Given the description of an element on the screen output the (x, y) to click on. 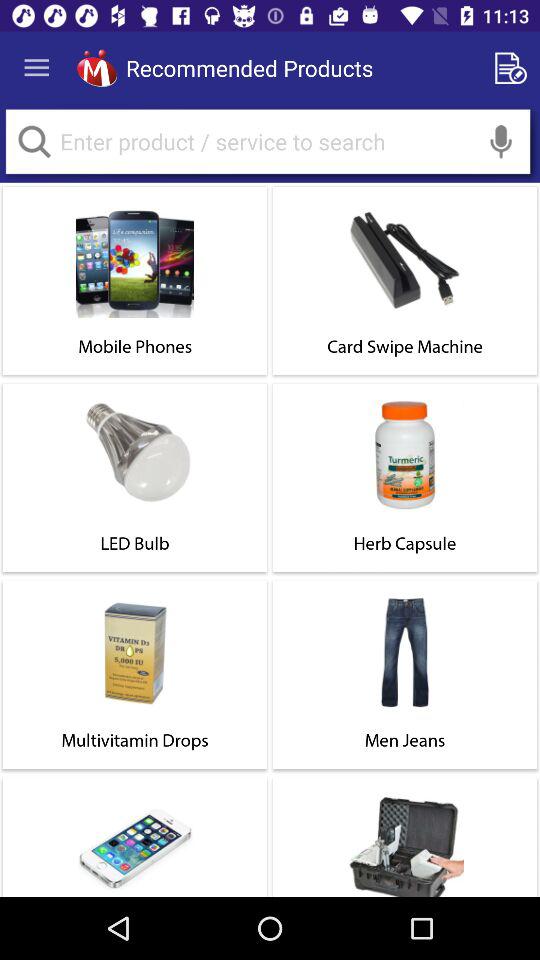
head to homepage (96, 67)
